Given the description of an element on the screen output the (x, y) to click on. 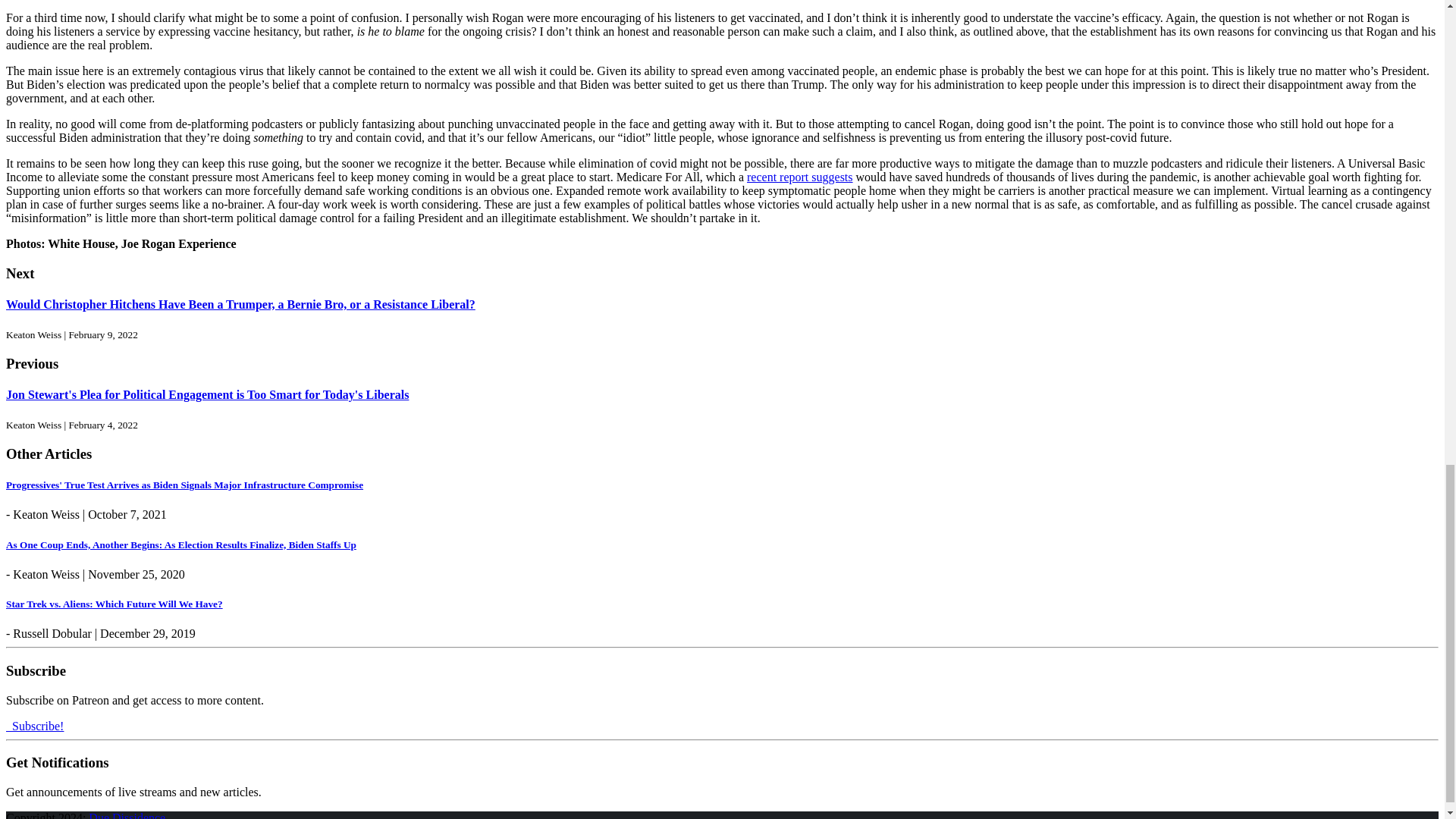
recent report suggests (799, 176)
  Subscribe! (34, 725)
